Given the description of an element on the screen output the (x, y) to click on. 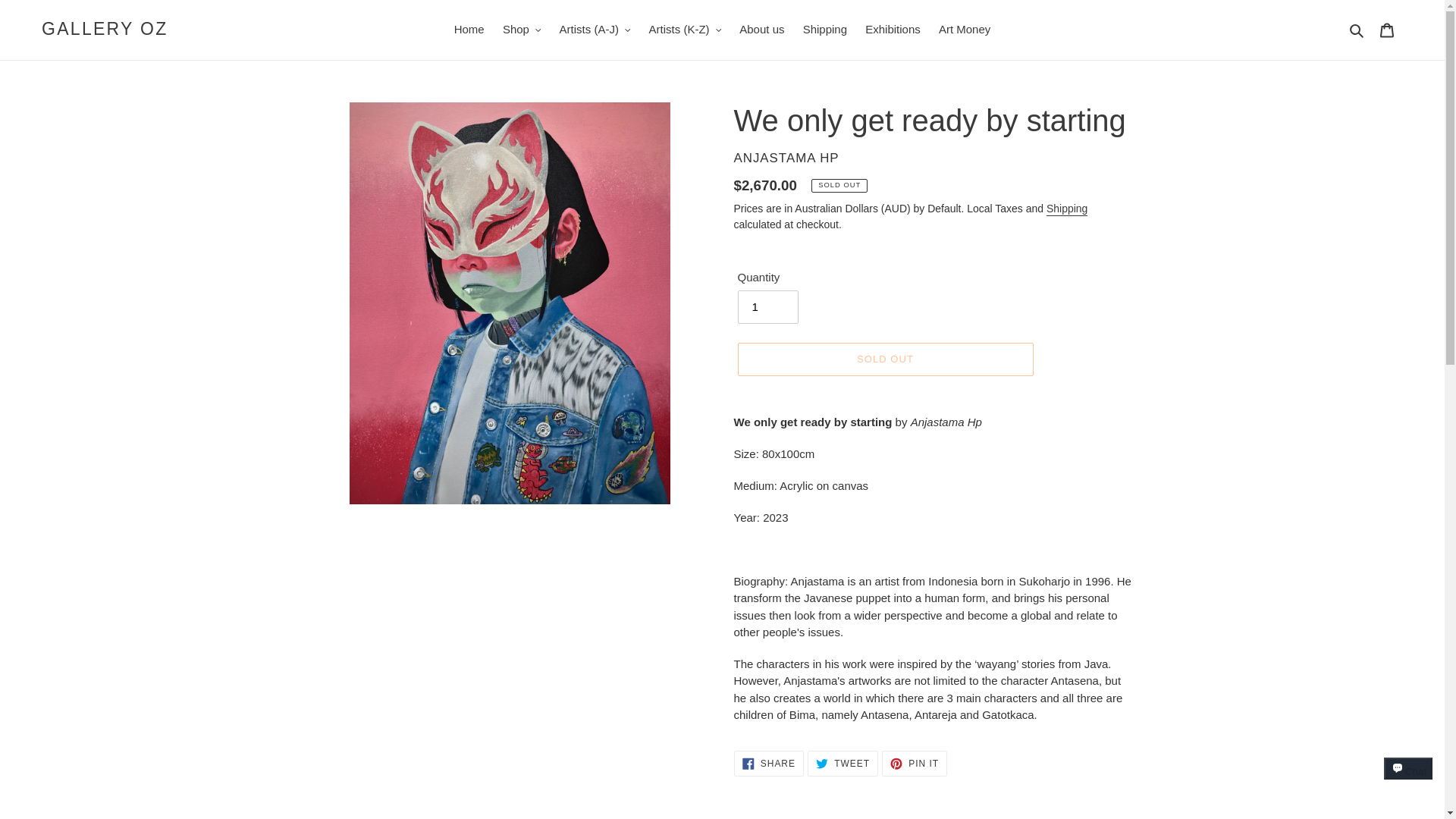
Shop (521, 29)
GALLERY OZ (105, 29)
Shopify online store chat (1408, 781)
Home (469, 29)
1 (766, 306)
